Given the description of an element on the screen output the (x, y) to click on. 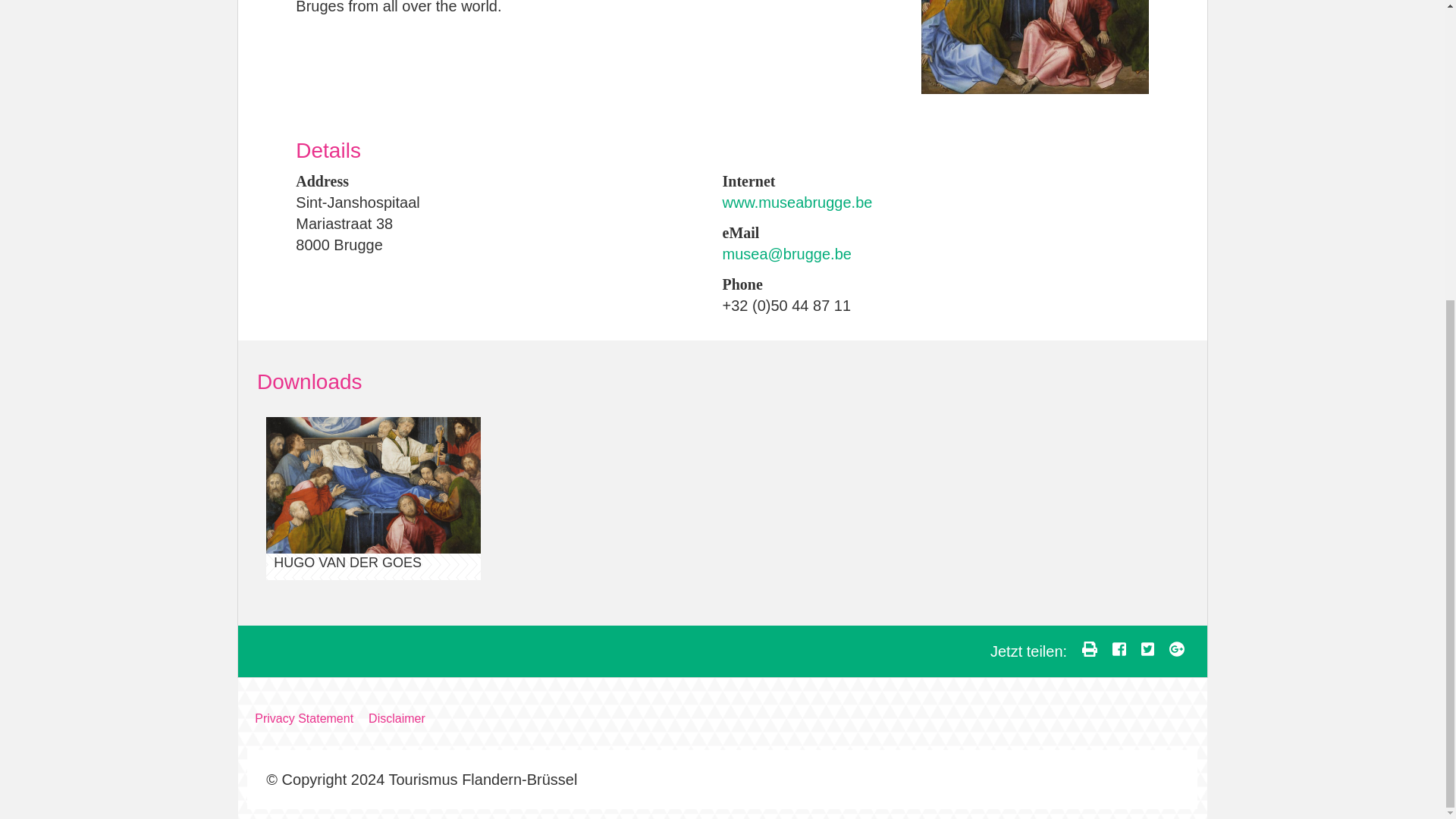
www.museabrugge.be (797, 202)
Disclaimer (404, 718)
HUGO VAN DER GOES (373, 497)
Privacy Statement (311, 718)
Privacy Statement (311, 718)
Disclaimer (404, 718)
